Given the description of an element on the screen output the (x, y) to click on. 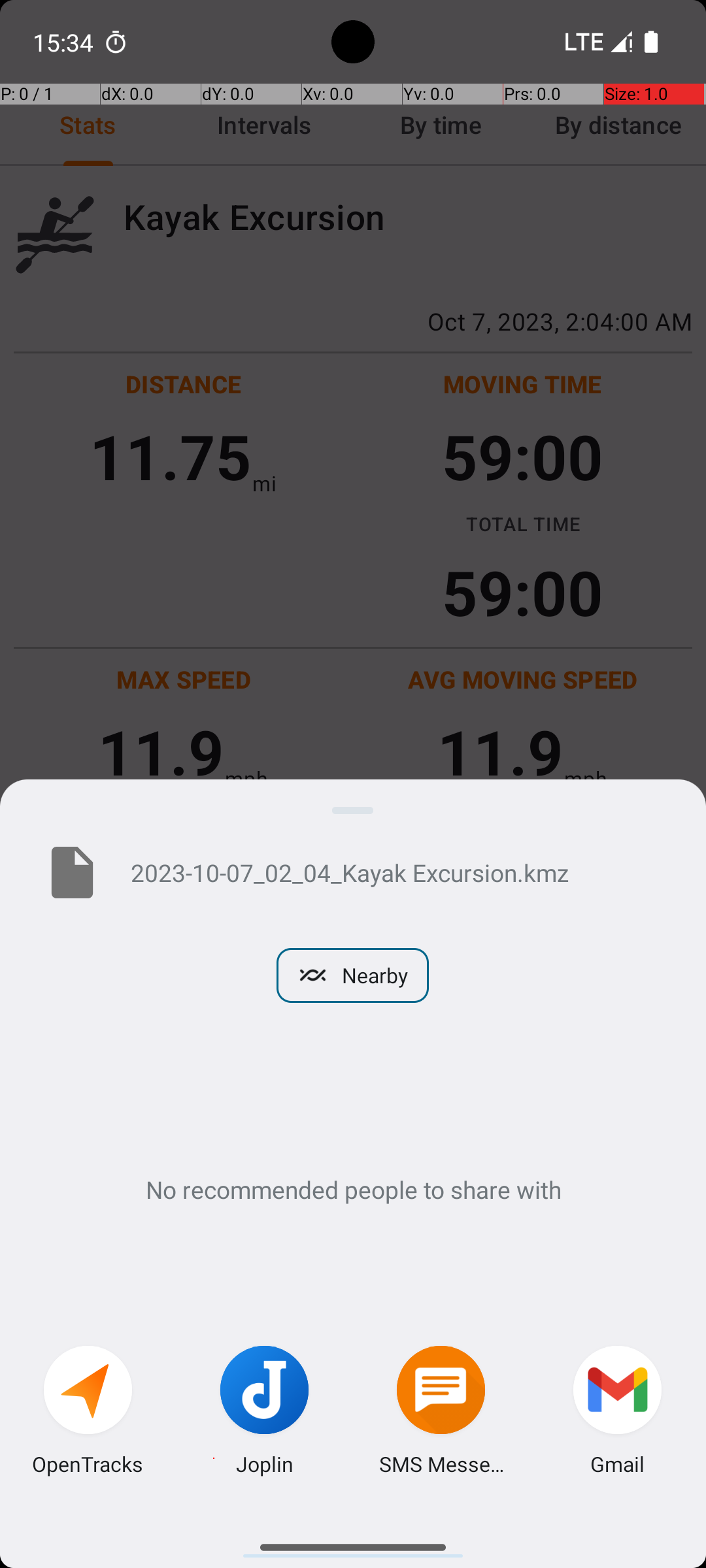
2023-10-07_02_04_Kayak Excursion.kmz Element type: android.widget.TextView (397, 872)
